Given the description of an element on the screen output the (x, y) to click on. 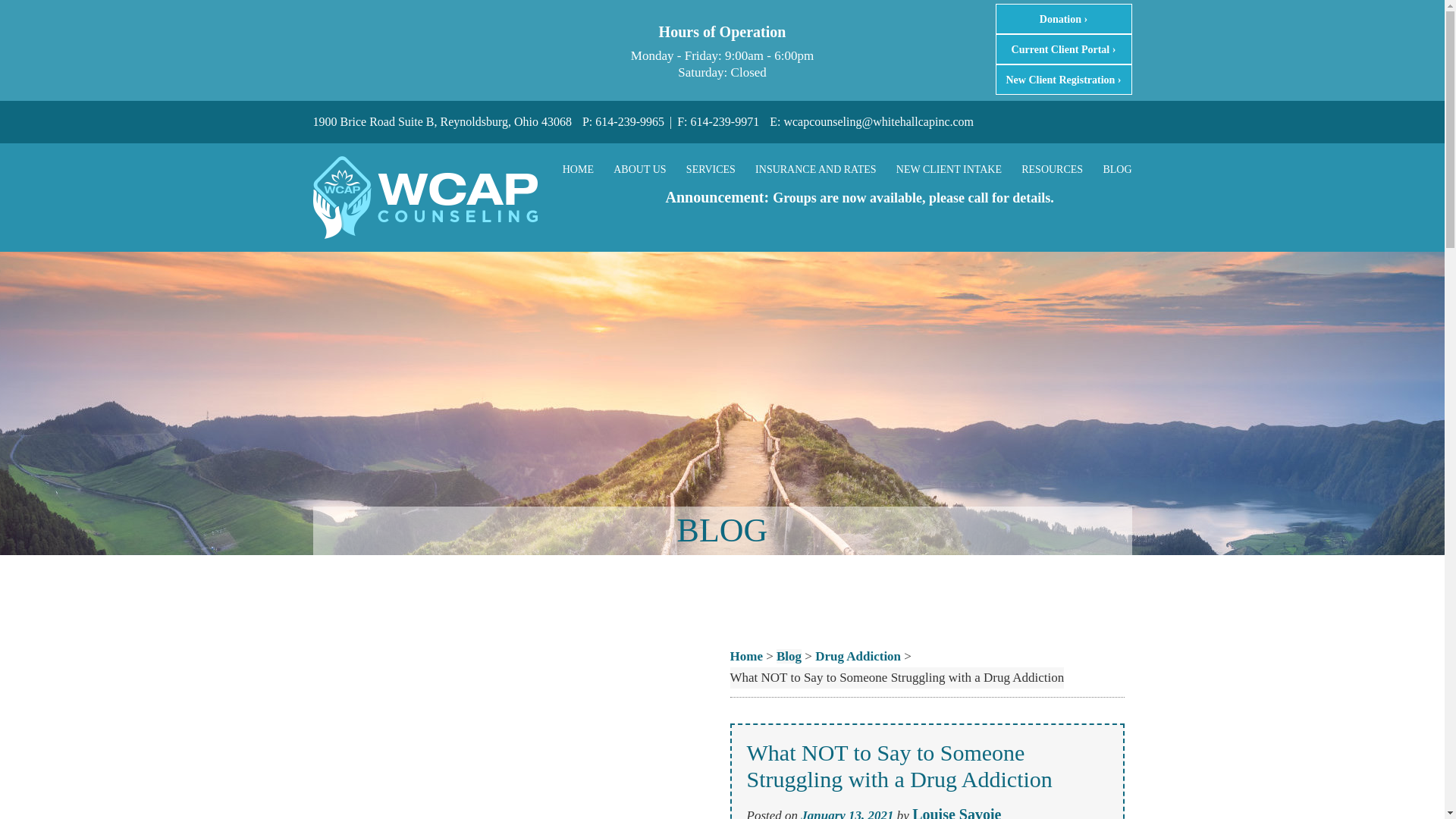
Home (745, 656)
View all posts by Louise Savoie (956, 812)
Louise Savoie (956, 812)
9:20 am (846, 813)
January 13, 2021 (846, 813)
Blog (789, 656)
Go to Blog. (789, 656)
Go to Home (745, 656)
Go to the Drug Addiction category archives. (858, 656)
Drug Addiction (858, 656)
